Given the description of an element on the screen output the (x, y) to click on. 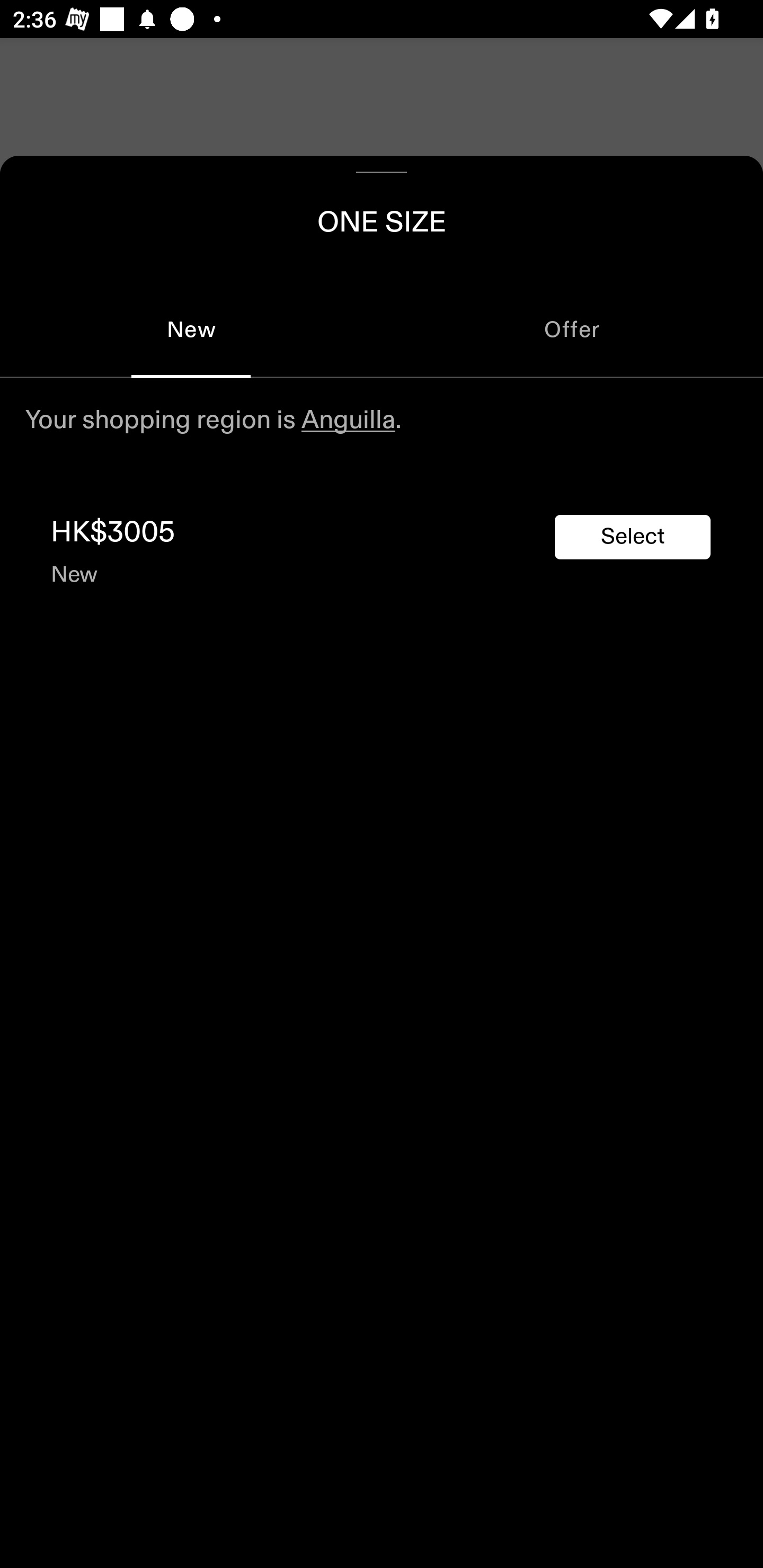
ONE SIZE (381, 218)
Offer (572, 329)
Select (632, 536)
